Given the description of an element on the screen output the (x, y) to click on. 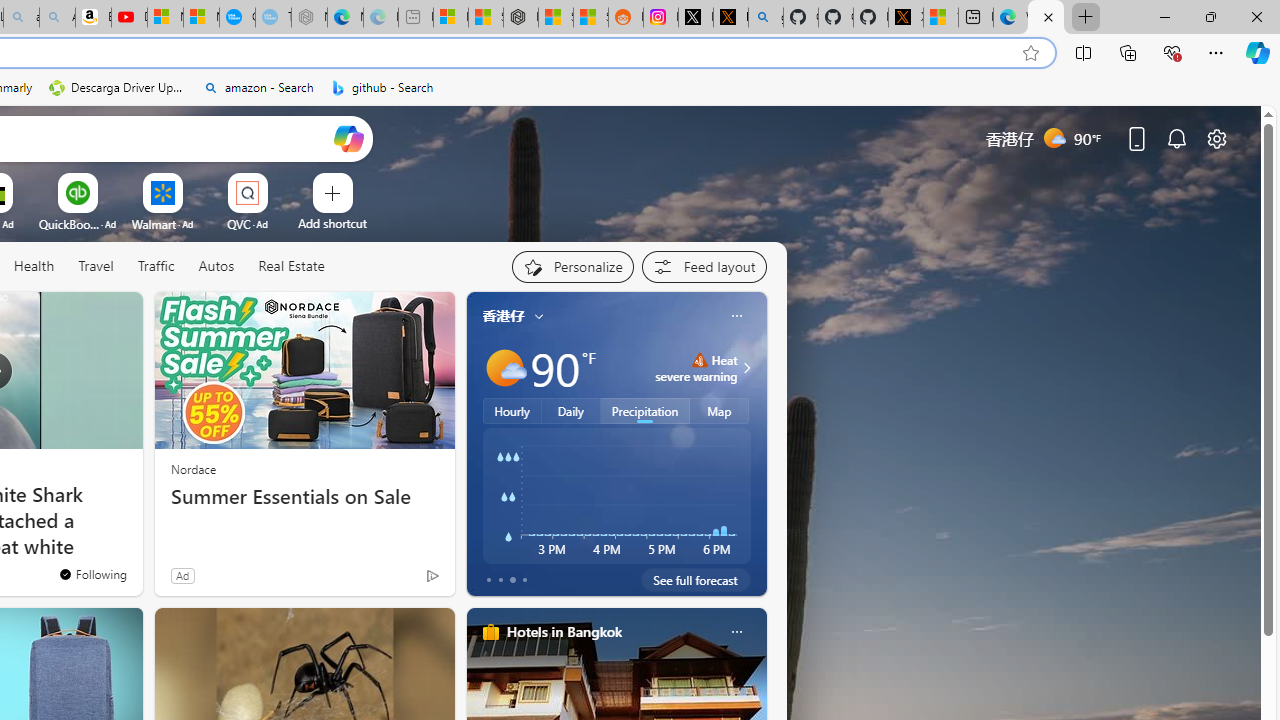
Ad (182, 575)
Real Estate (290, 267)
X Privacy Policy (905, 17)
Map (719, 411)
github - Search (765, 17)
My location (538, 315)
Nordace - Duffels (520, 17)
Close tab (1048, 16)
You're following The Weather Channel (390, 579)
See full forecast (695, 579)
Welcome to Microsoft Edge (1010, 17)
Microsoft account | Microsoft Account Privacy Settings (450, 17)
